Given the description of an element on the screen output the (x, y) to click on. 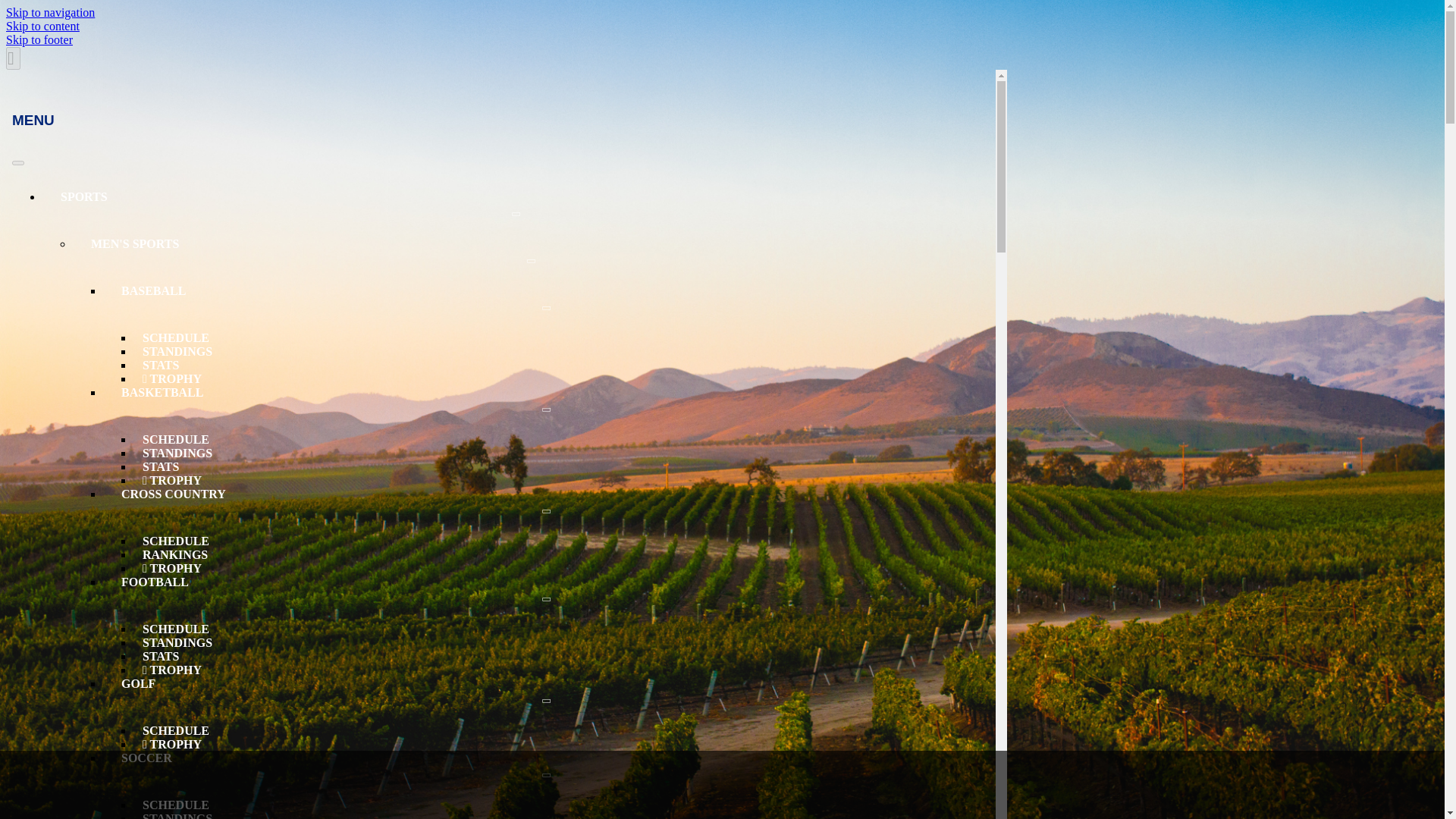
3rd party ad content (721, 785)
